Given the description of an element on the screen output the (x, y) to click on. 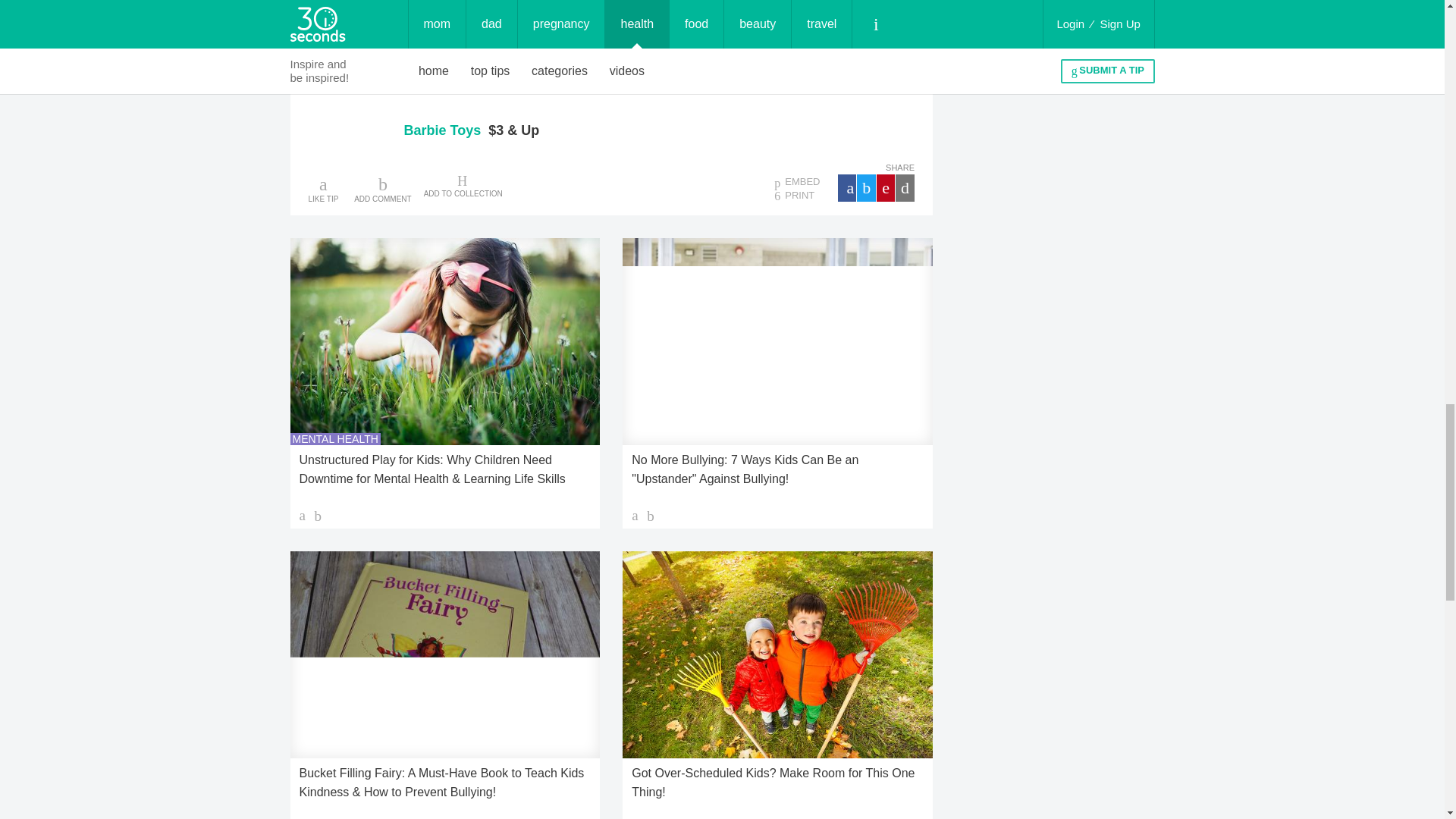
ADD COMMENT (382, 188)
